Given the description of an element on the screen output the (x, y) to click on. 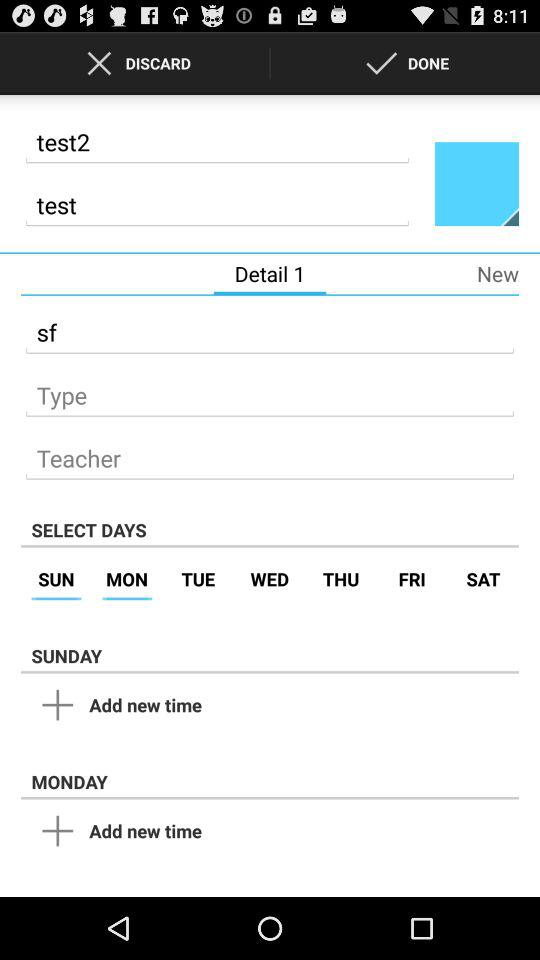
color (477, 183)
